Given the description of an element on the screen output the (x, y) to click on. 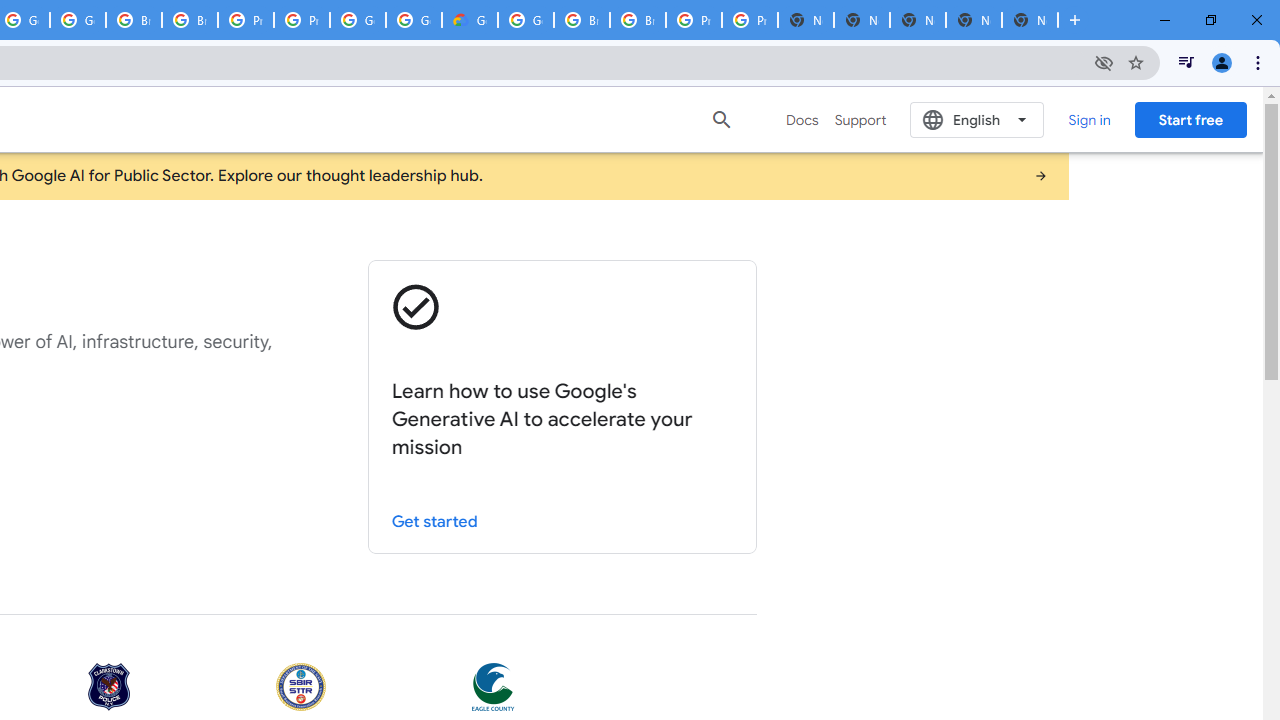
Docs (802, 119)
Support (860, 119)
U.S. Navy (301, 687)
Browse Chrome as a guest - Computer - Google Chrome Help (582, 20)
Google Cloud Platform (358, 20)
